Given the description of an element on the screen output the (x, y) to click on. 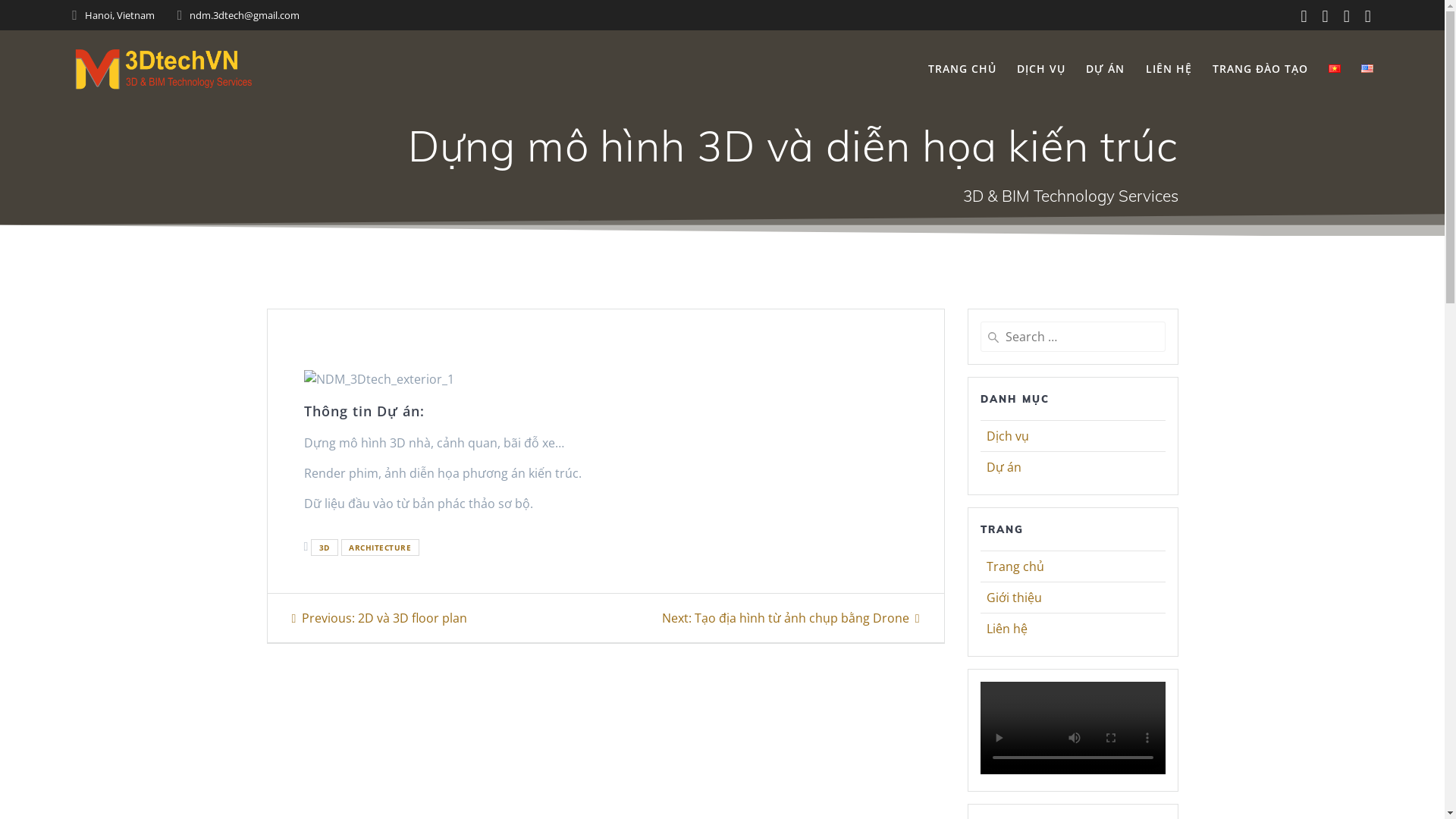
3D Element type: text (323, 547)
ARCHITECTURE Element type: text (380, 547)
